Given the description of an element on the screen output the (x, y) to click on. 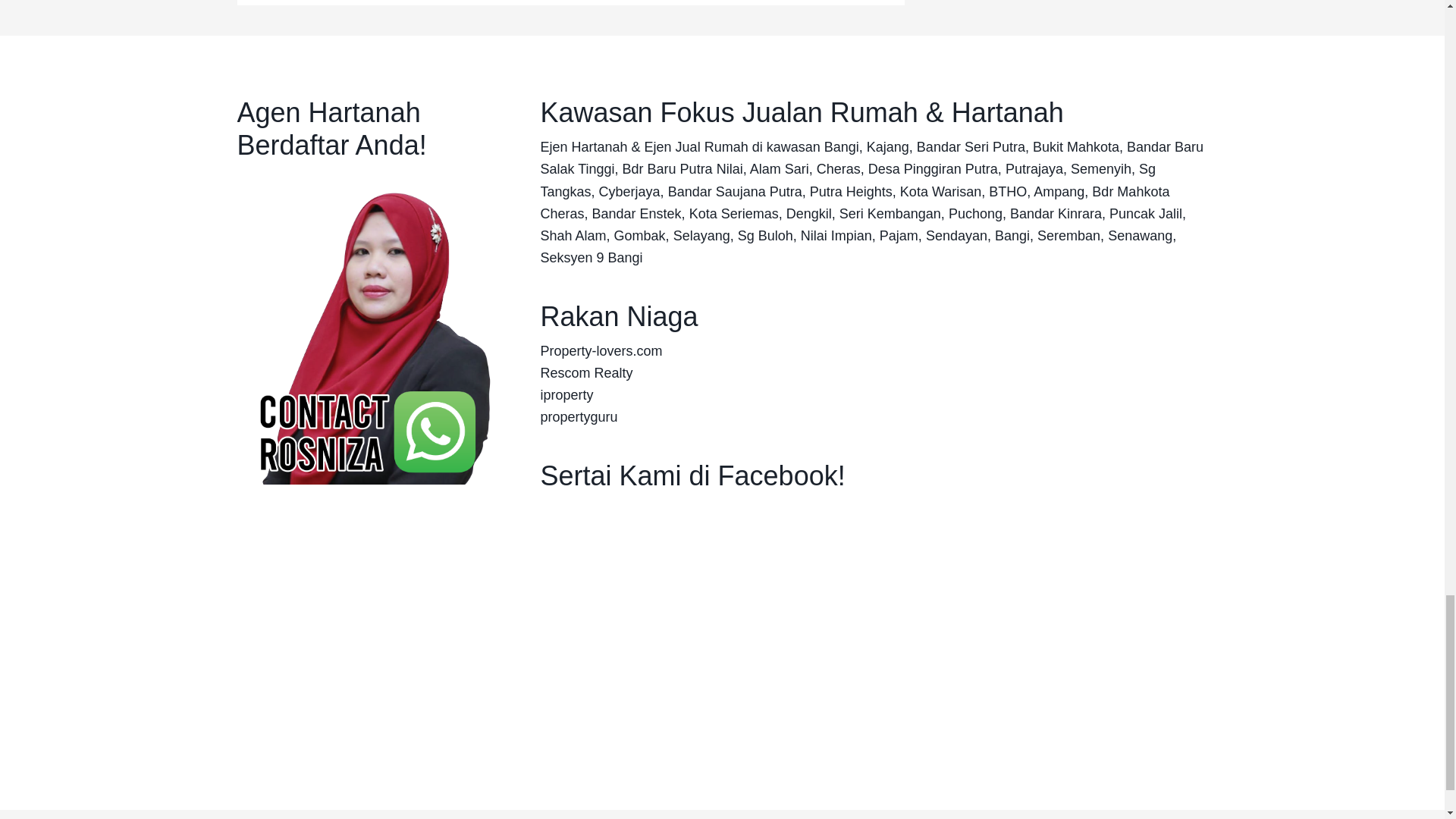
Click To Whatsapp (365, 326)
